Given the description of an element on the screen output the (x, y) to click on. 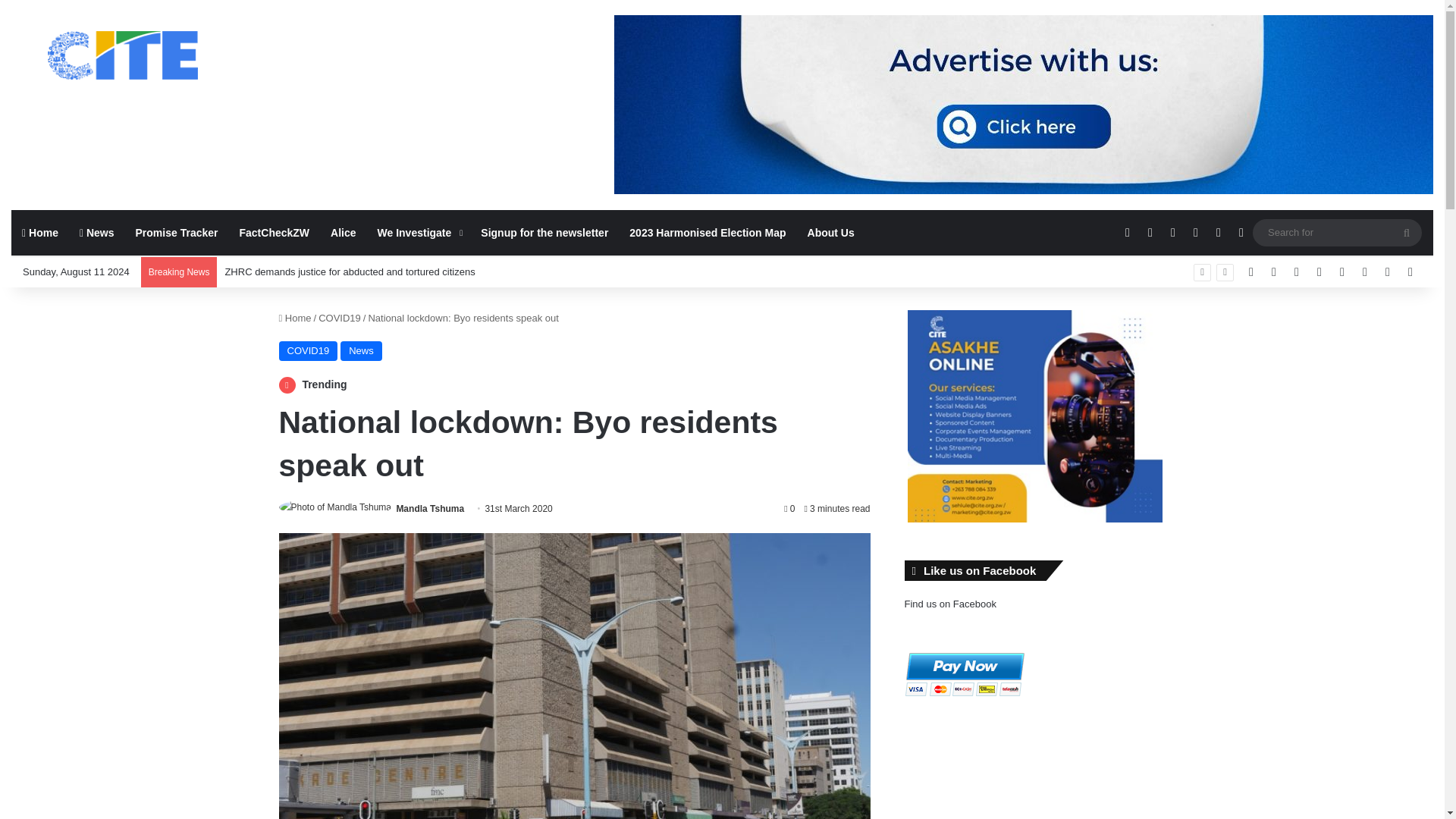
Mandla Tshuma (430, 508)
We Investigate (418, 232)
News (360, 351)
About Us (830, 232)
Home (295, 317)
Mandla Tshuma (430, 508)
Search for (1337, 231)
Promise Tracker (176, 232)
Alice (343, 232)
Search for (1406, 232)
